Given the description of an element on the screen output the (x, y) to click on. 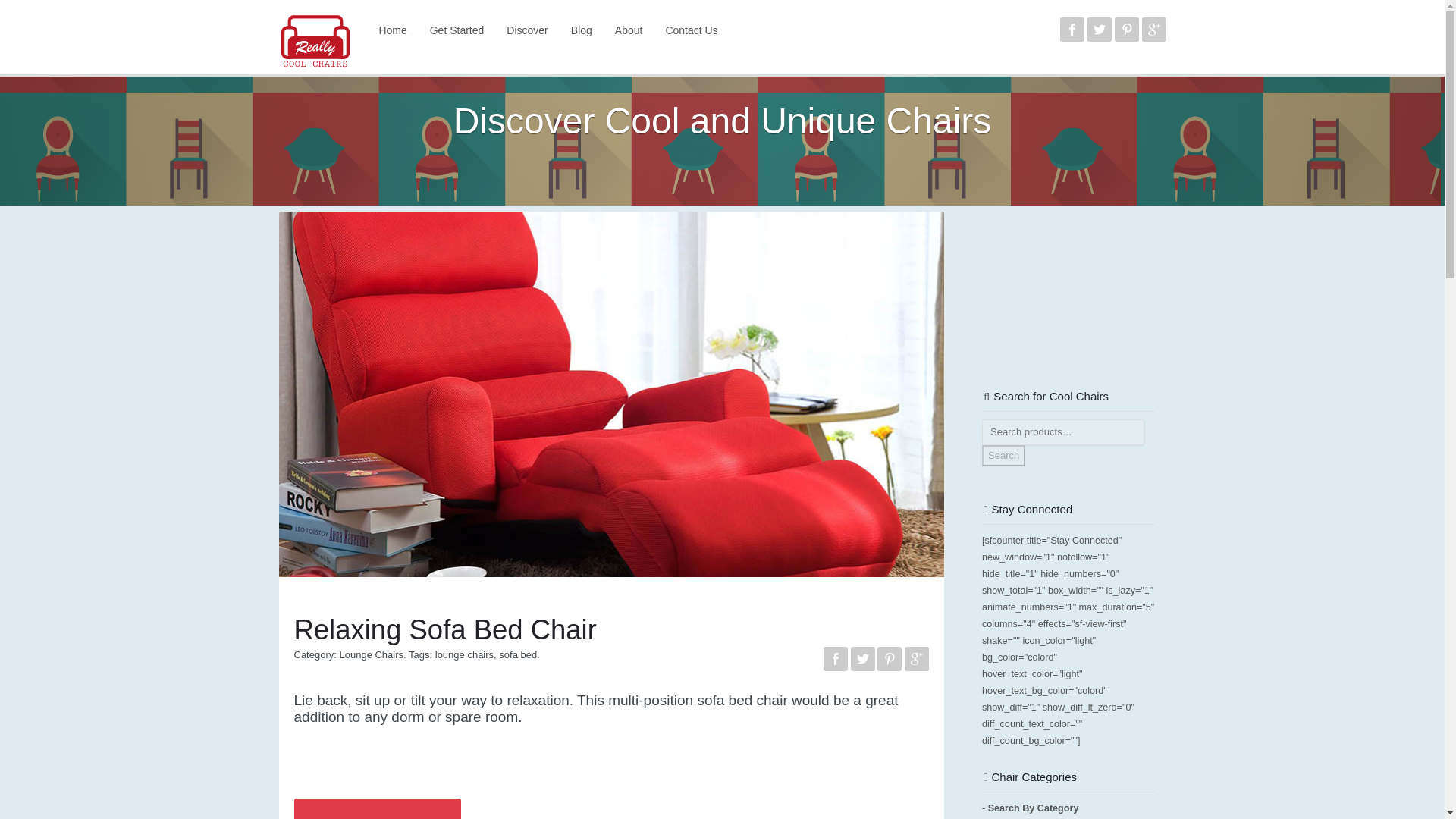
Contact Us (691, 29)
Get Started (457, 29)
Discover (527, 29)
Home (391, 29)
sofa bed (518, 654)
Read our latest posts (581, 29)
lounge chairs (464, 654)
Get Started on your search for Cool Chairs (457, 29)
Go to Really Cool Chairs homepage (391, 29)
CHECK IT OUT (377, 808)
